Given the description of an element on the screen output the (x, y) to click on. 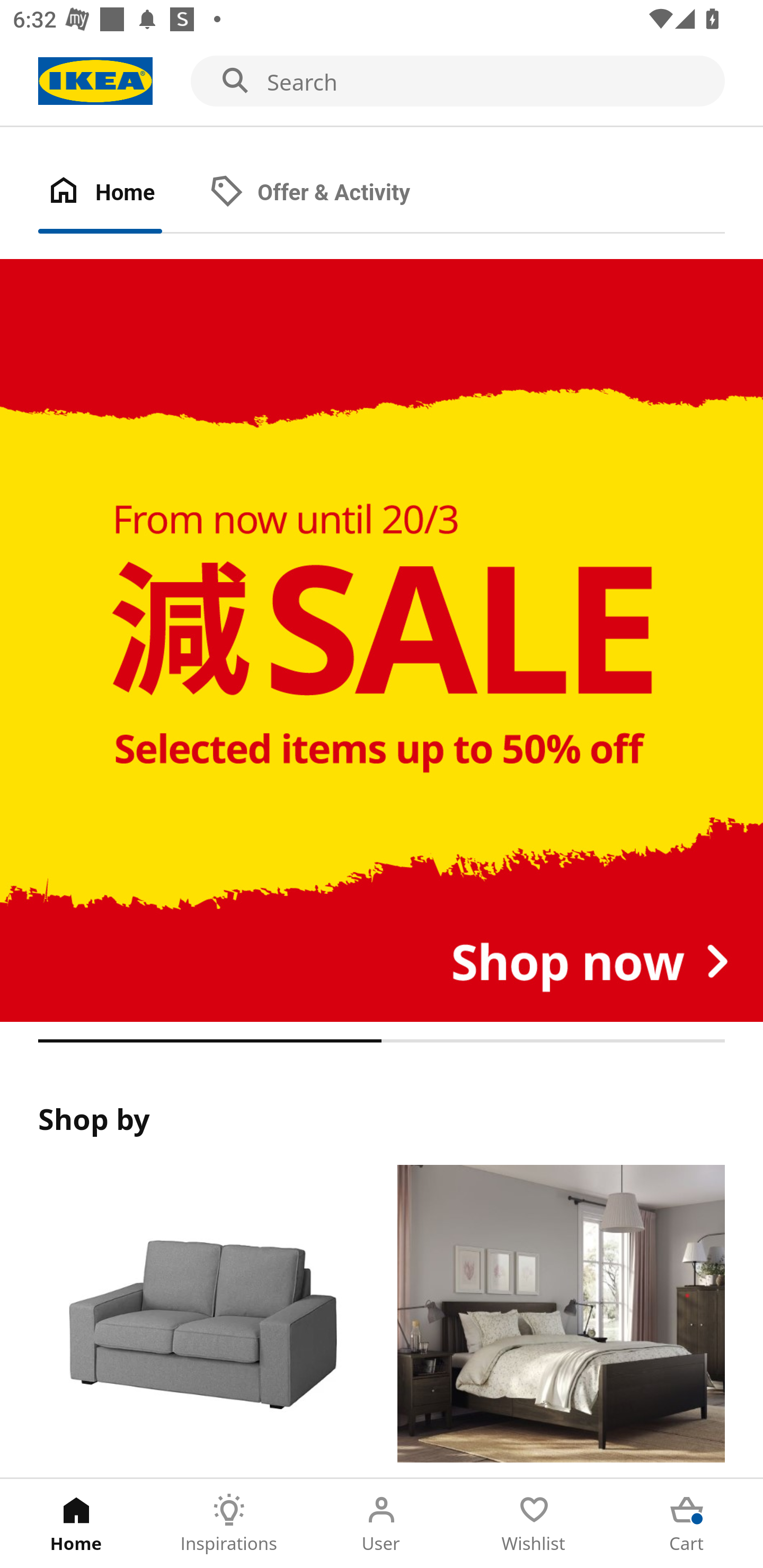
Search (381, 81)
Home
Tab 1 of 2 (118, 192)
Offer & Activity
Tab 2 of 2 (327, 192)
Products (201, 1321)
Rooms (560, 1321)
Home
Tab 1 of 5 (76, 1522)
Inspirations
Tab 2 of 5 (228, 1522)
User
Tab 3 of 5 (381, 1522)
Wishlist
Tab 4 of 5 (533, 1522)
Cart
Tab 5 of 5 (686, 1522)
